Given the description of an element on the screen output the (x, y) to click on. 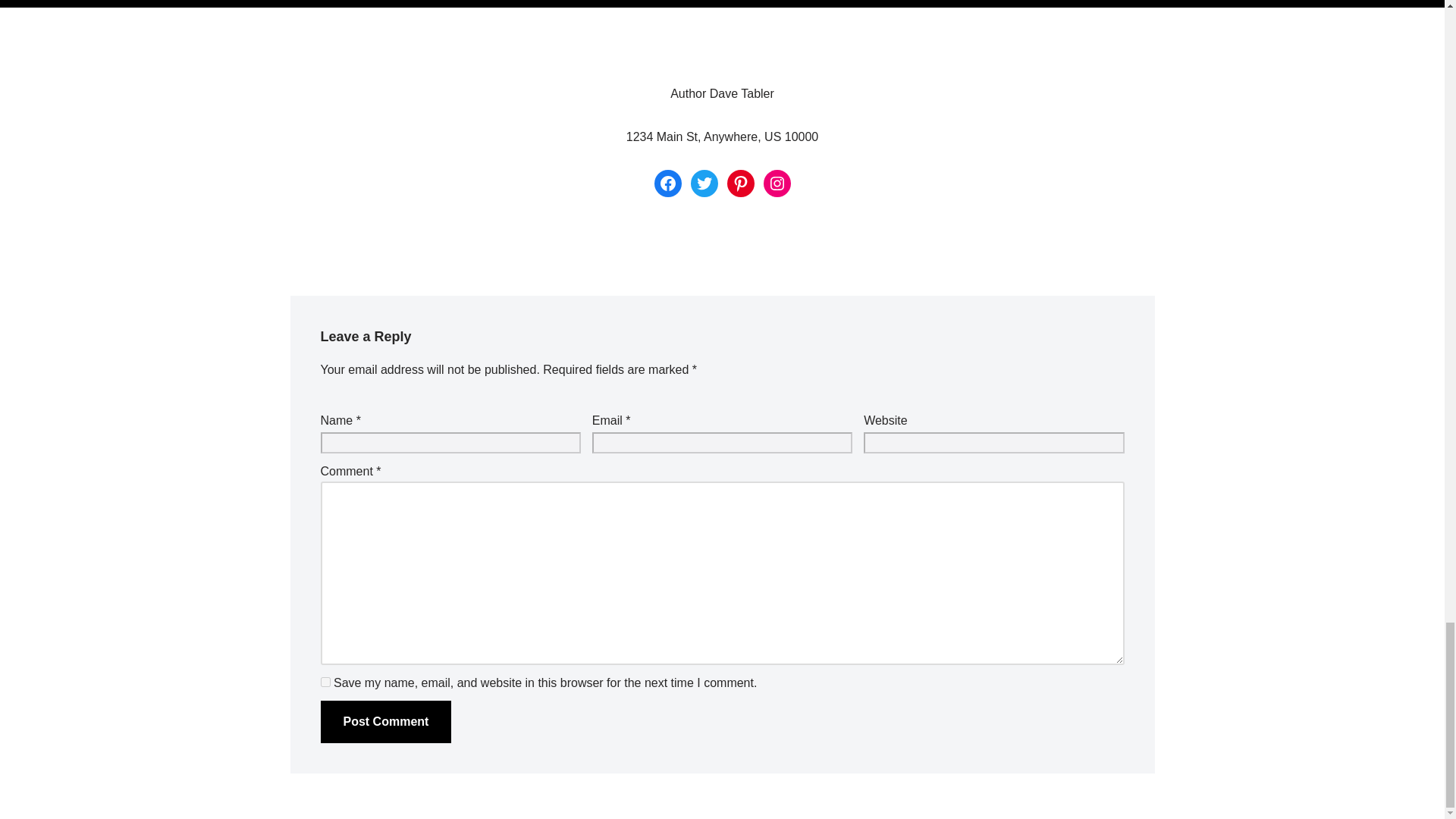
Post Comment (385, 721)
yes (325, 682)
Post Comment (385, 721)
